Given the description of an element on the screen output the (x, y) to click on. 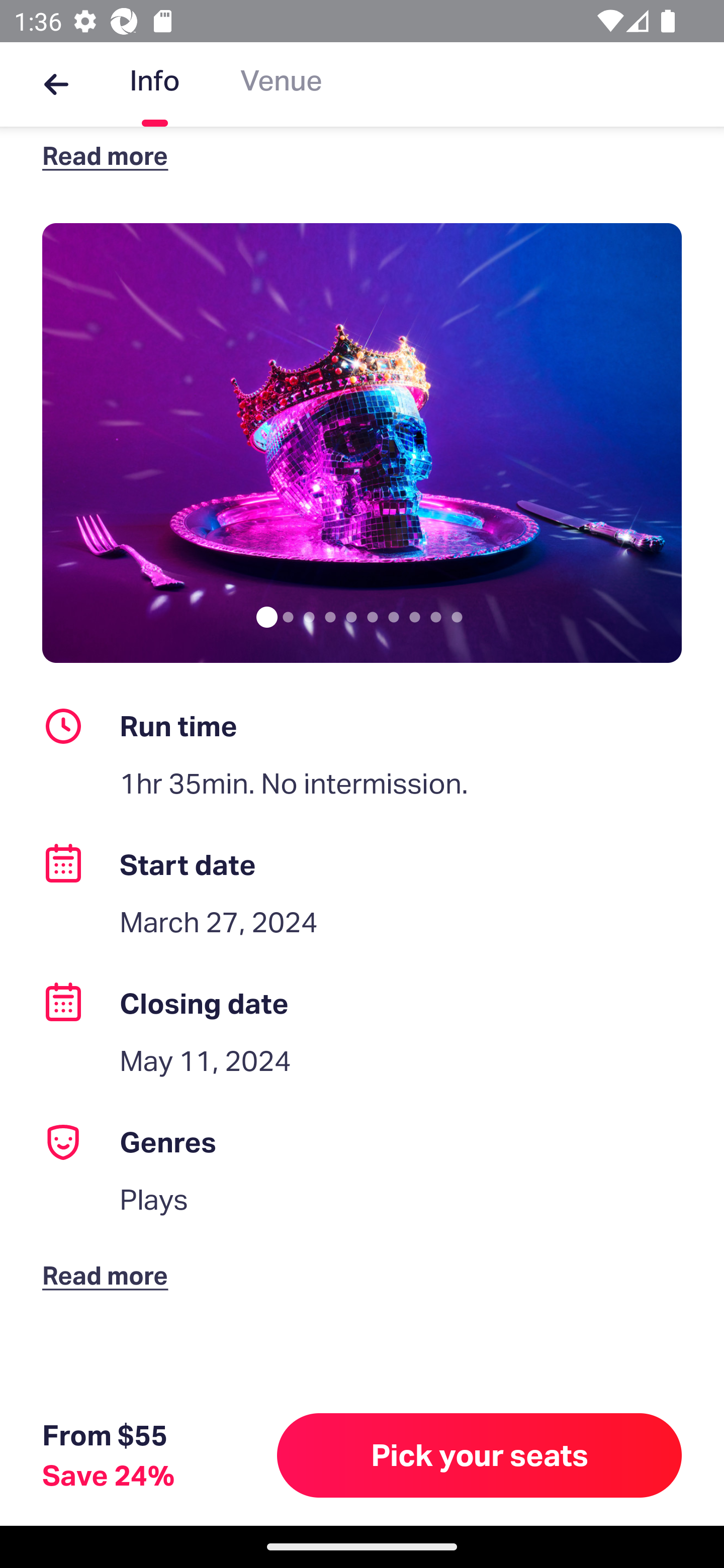
Venue (280, 84)
Read more (109, 155)
Read more (109, 1258)
Pick your seats (479, 1454)
